Given the description of an element on the screen output the (x, y) to click on. 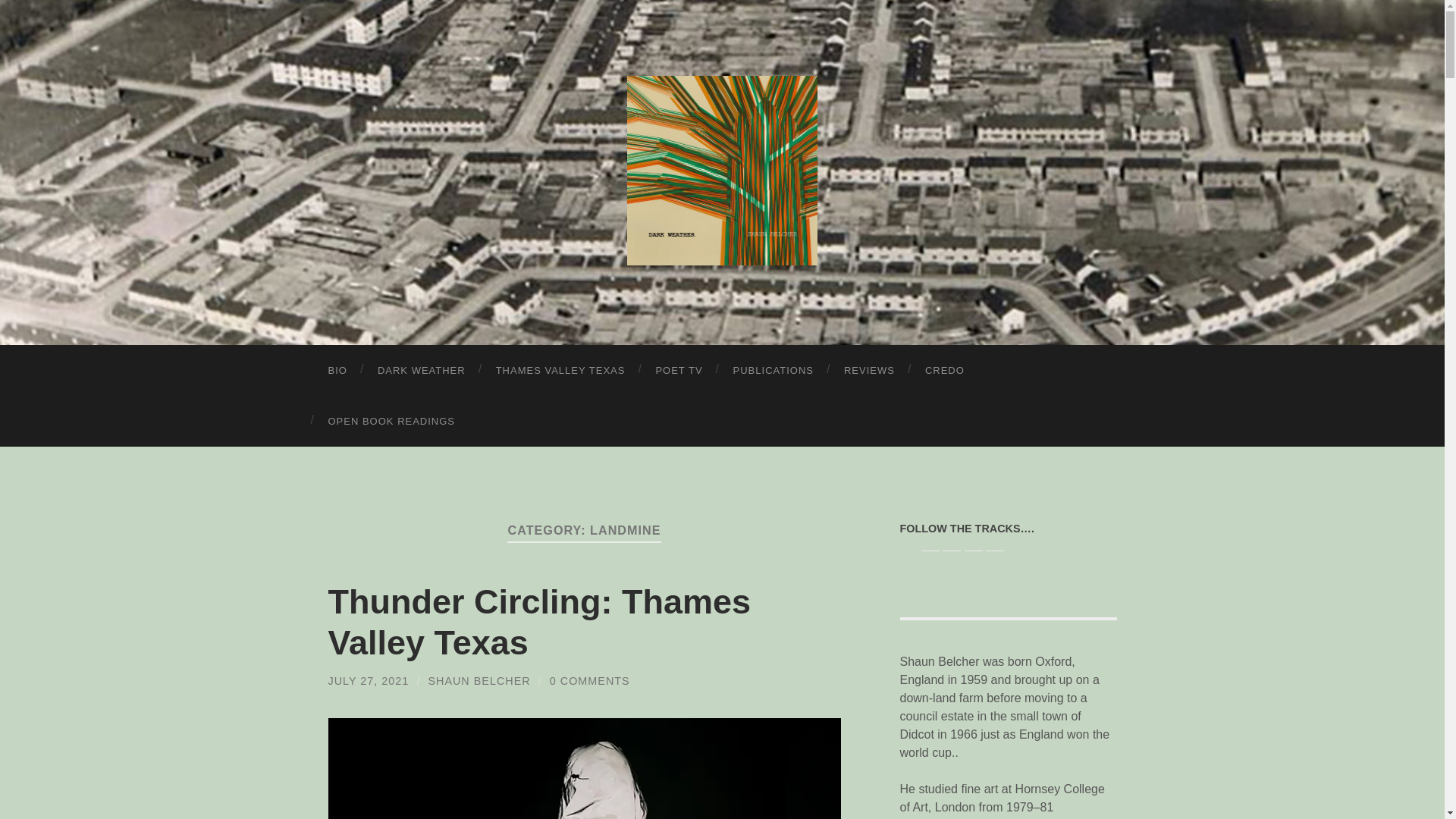
BIO (337, 369)
DARK WEATHER (421, 369)
CREDO (944, 369)
SHAUN BELCHER (478, 680)
0 COMMENTS (590, 680)
POET TV (678, 369)
Posts by shaun belcher (478, 680)
THAMES VALLEY TEXAS (560, 369)
SHAUN BELCHER (721, 170)
OPEN BOOK READINGS (391, 420)
